Given the description of an element on the screen output the (x, y) to click on. 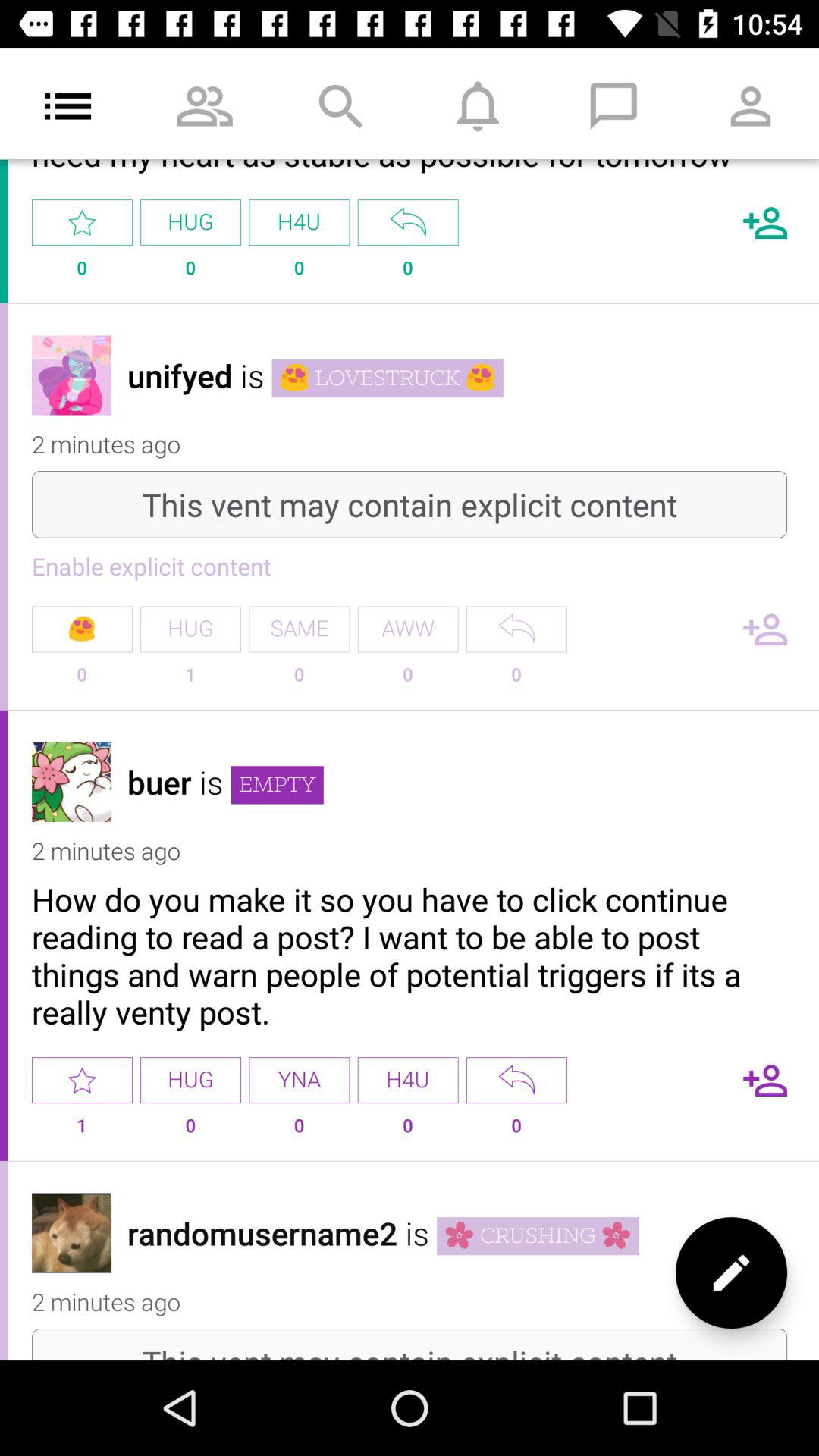
click icon next to hug item (299, 629)
